Given the description of an element on the screen output the (x, y) to click on. 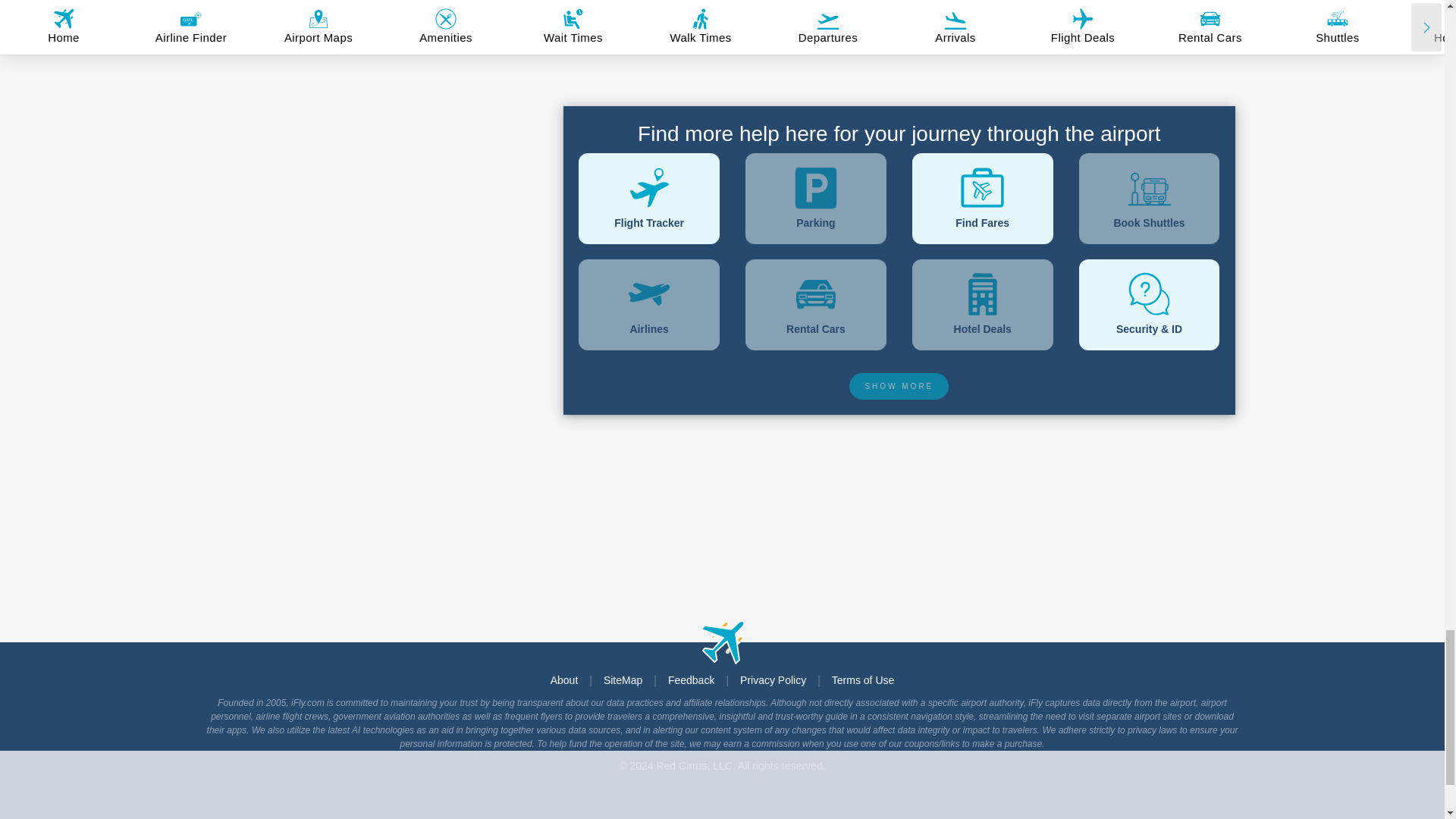
show more (898, 386)
